Given the description of an element on the screen output the (x, y) to click on. 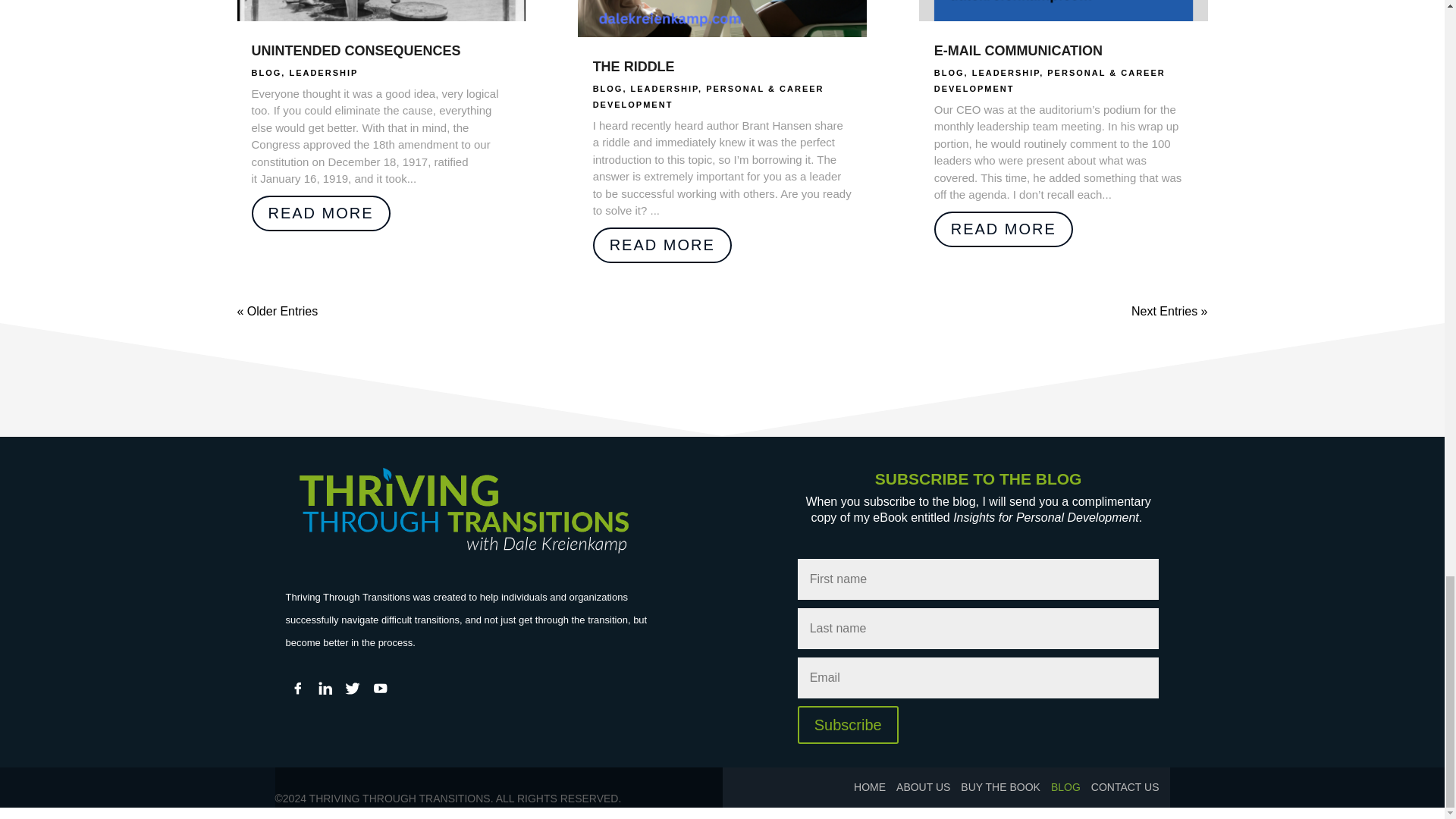
UNINTENDED CONSEQUENCES (356, 50)
READ MORE (320, 212)
LEADERSHIP (323, 71)
BLOG (266, 71)
